Given the description of an element on the screen output the (x, y) to click on. 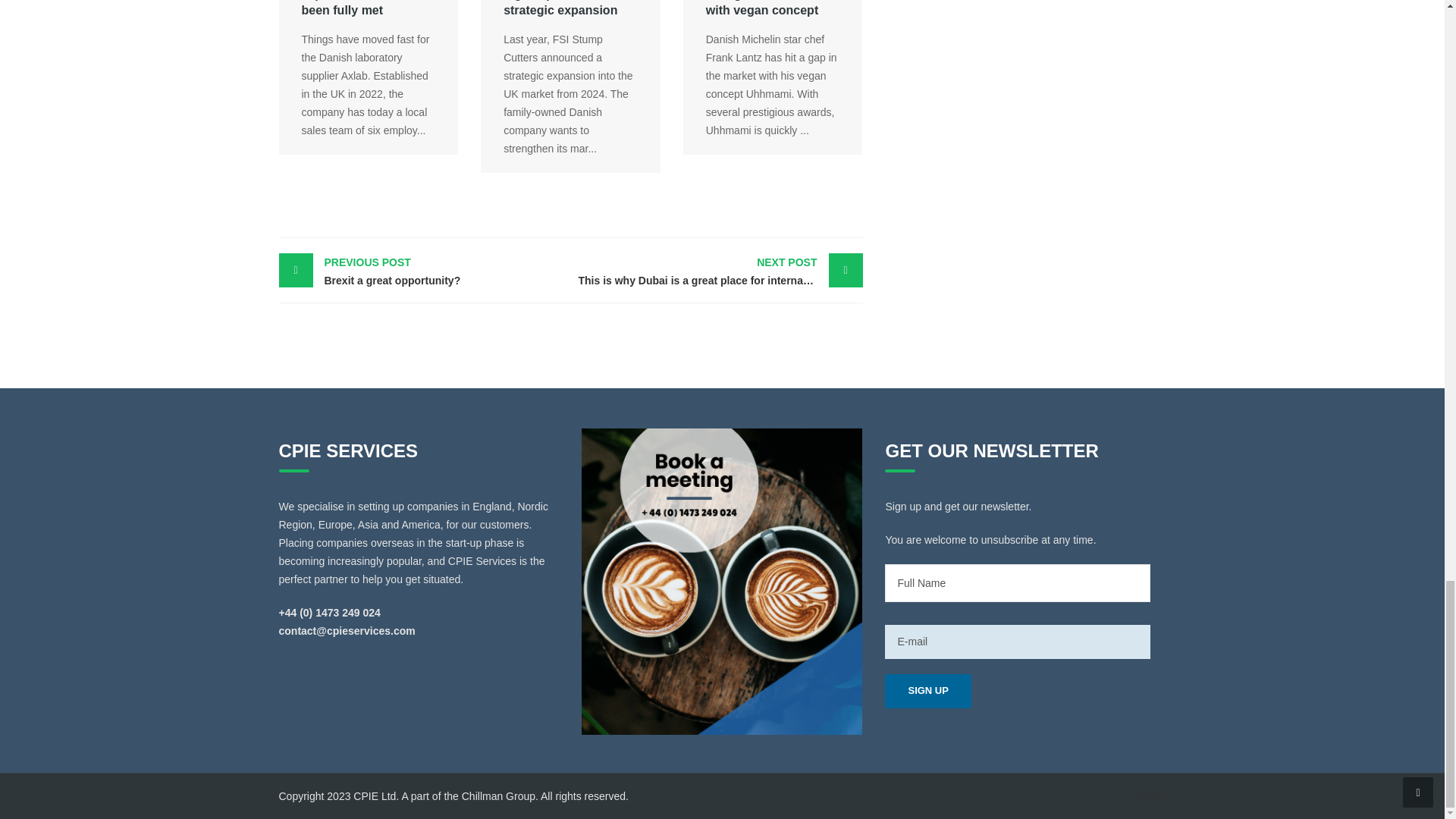
SIGN UP (928, 691)
Axlab in the UK: Our expectations have been fully met (360, 8)
